Given the description of an element on the screen output the (x, y) to click on. 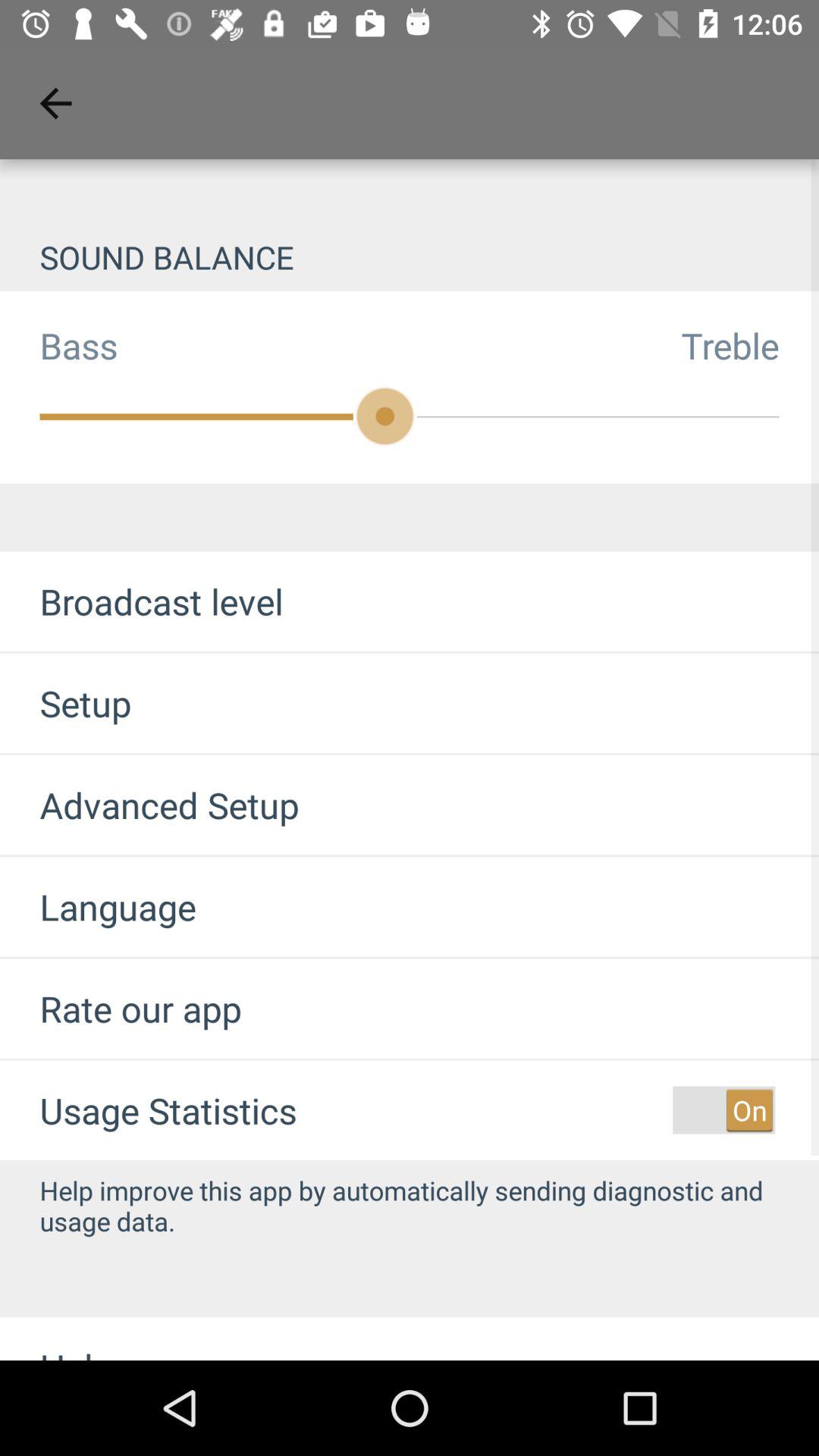
select the icon below setup (149, 804)
